Given the description of an element on the screen output the (x, y) to click on. 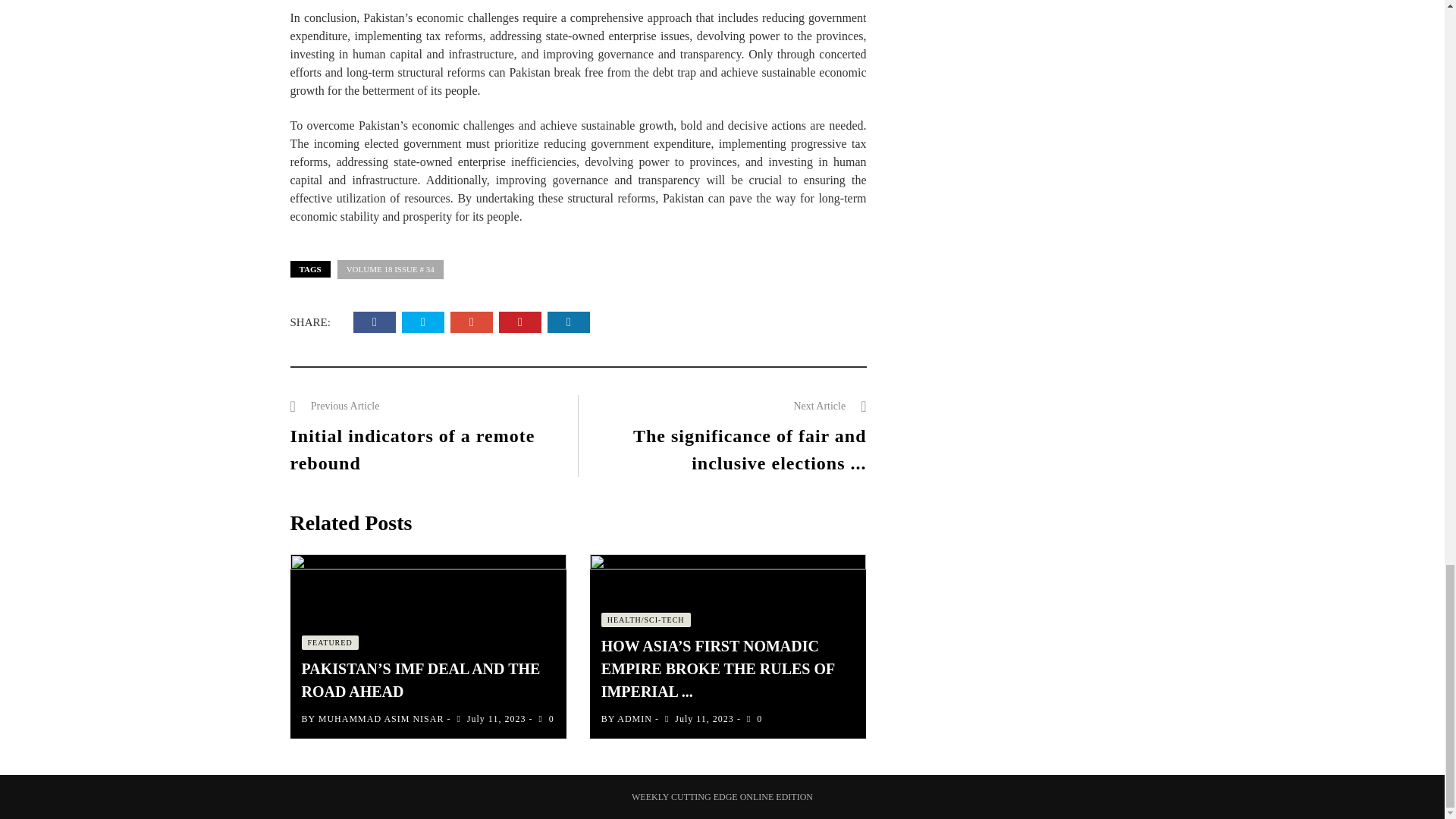
Posts by Muhammad Asim Nisar (381, 718)
FEATURED (329, 642)
MUHAMMAD ASIM NISAR (381, 718)
Initial indicators of a remote rebound (411, 449)
Posts by admin (634, 718)
The significance of fair and inclusive elections ... (749, 449)
